Given the description of an element on the screen output the (x, y) to click on. 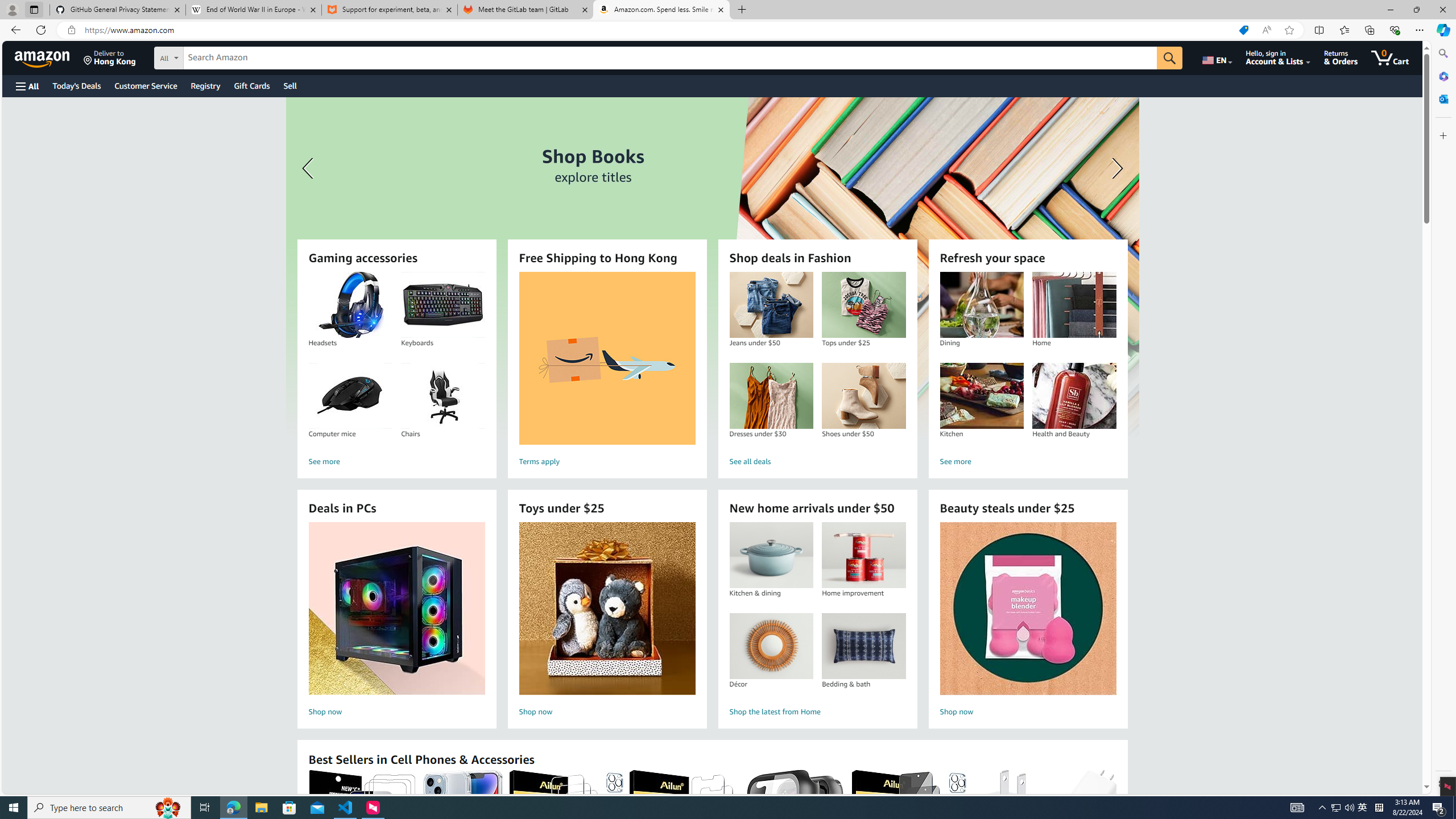
Shop Books (711, 267)
Health and Beauty (1074, 395)
Keyboards (443, 304)
Toys under $25 Shop now (606, 620)
Free Shipping to Hong Kong Terms apply (606, 370)
Shoes under $50 (863, 395)
Tops under $25 (863, 304)
Sell (290, 85)
Dining (981, 304)
